Given the description of an element on the screen output the (x, y) to click on. 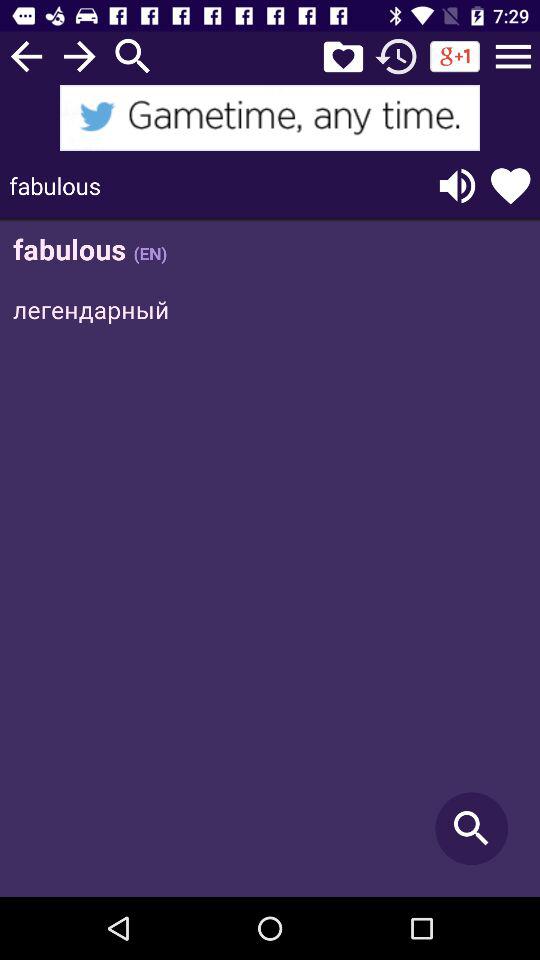
listen to the text (457, 185)
